Given the description of an element on the screen output the (x, y) to click on. 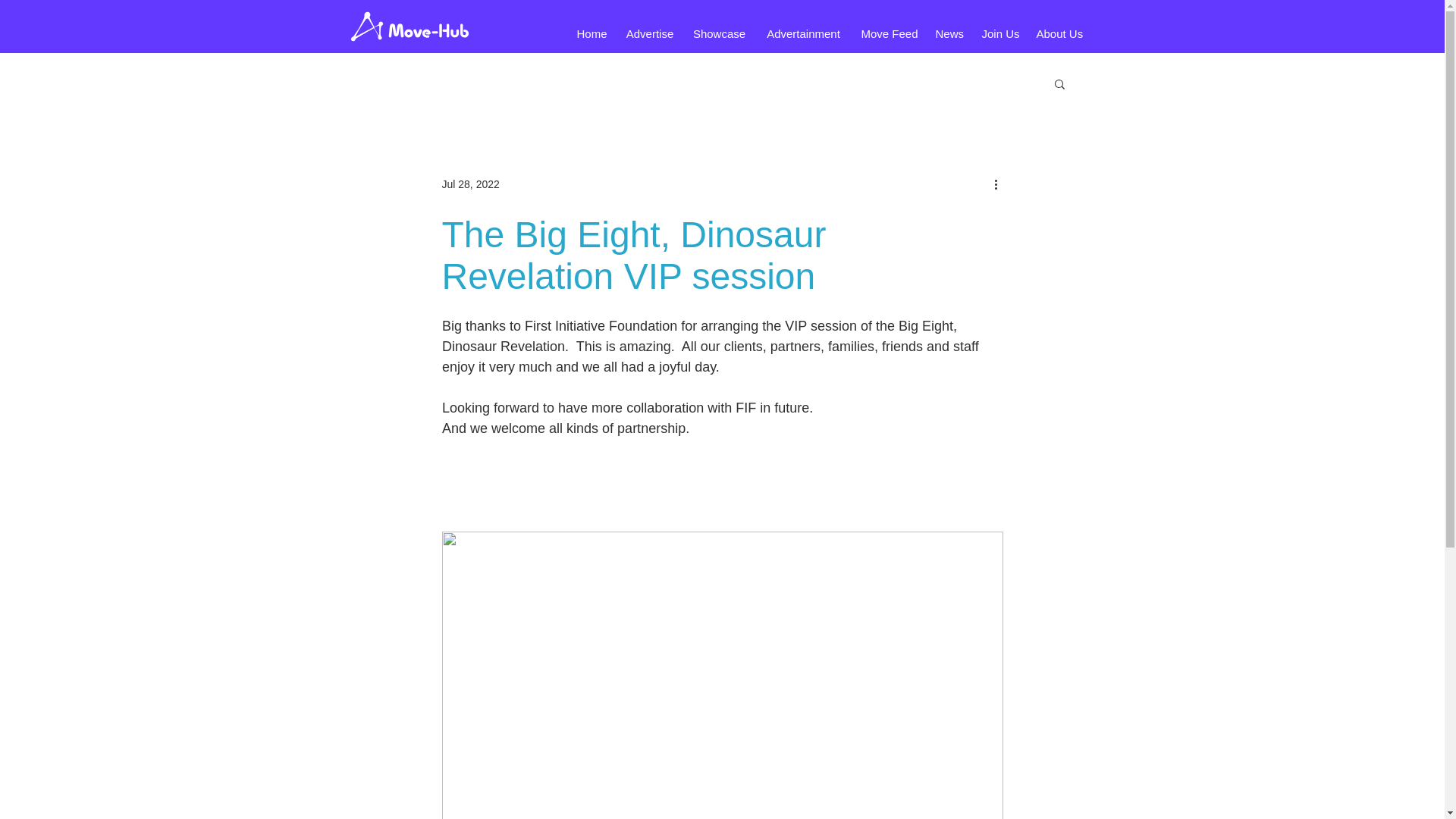
About Us (1058, 33)
Home (591, 33)
Advertainment (803, 33)
Jul 28, 2022 (470, 183)
Move Feed (889, 33)
Join Us (999, 33)
Showcase (719, 33)
